Given the description of an element on the screen output the (x, y) to click on. 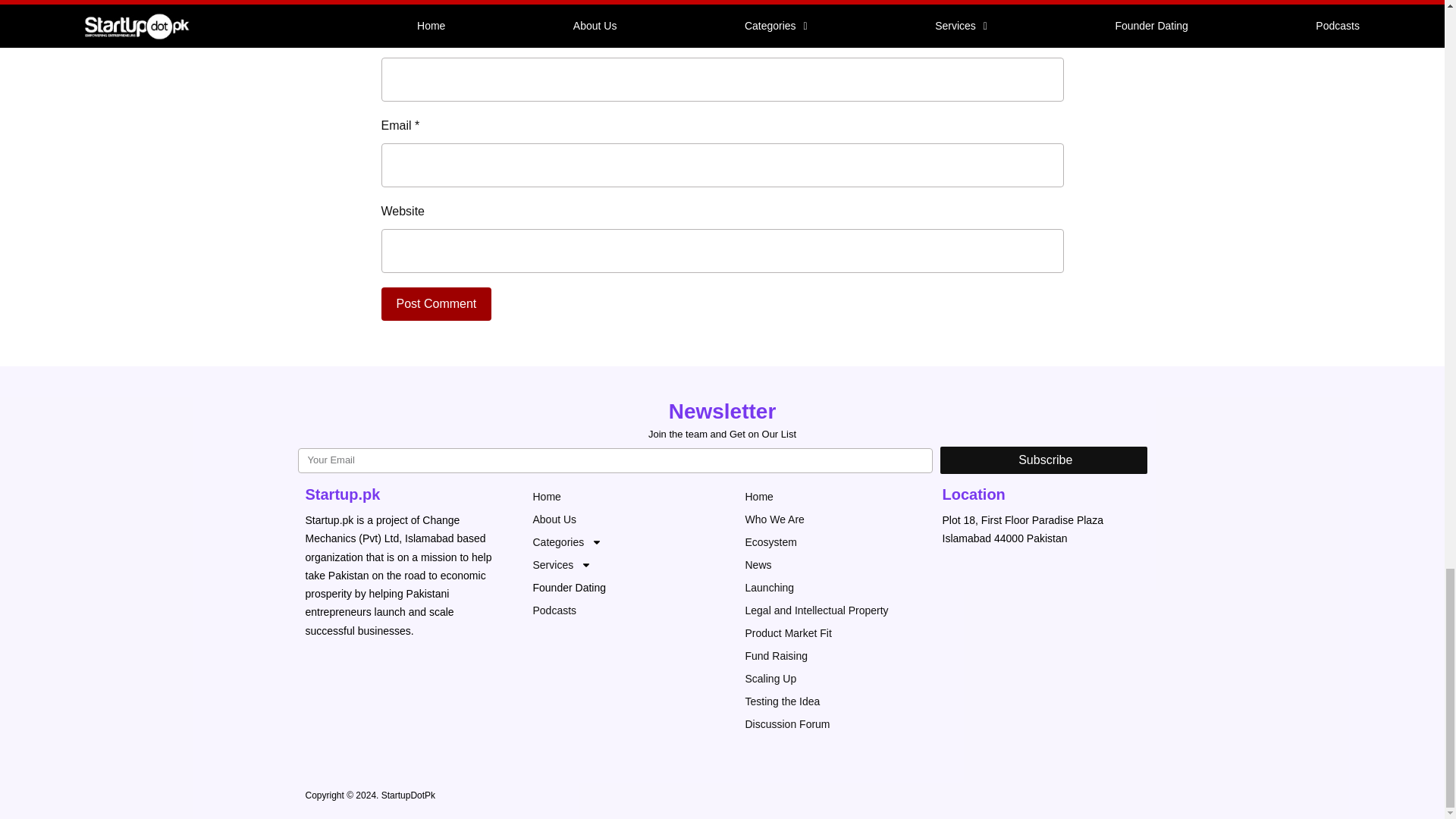
Post Comment (436, 304)
